Given the description of an element on the screen output the (x, y) to click on. 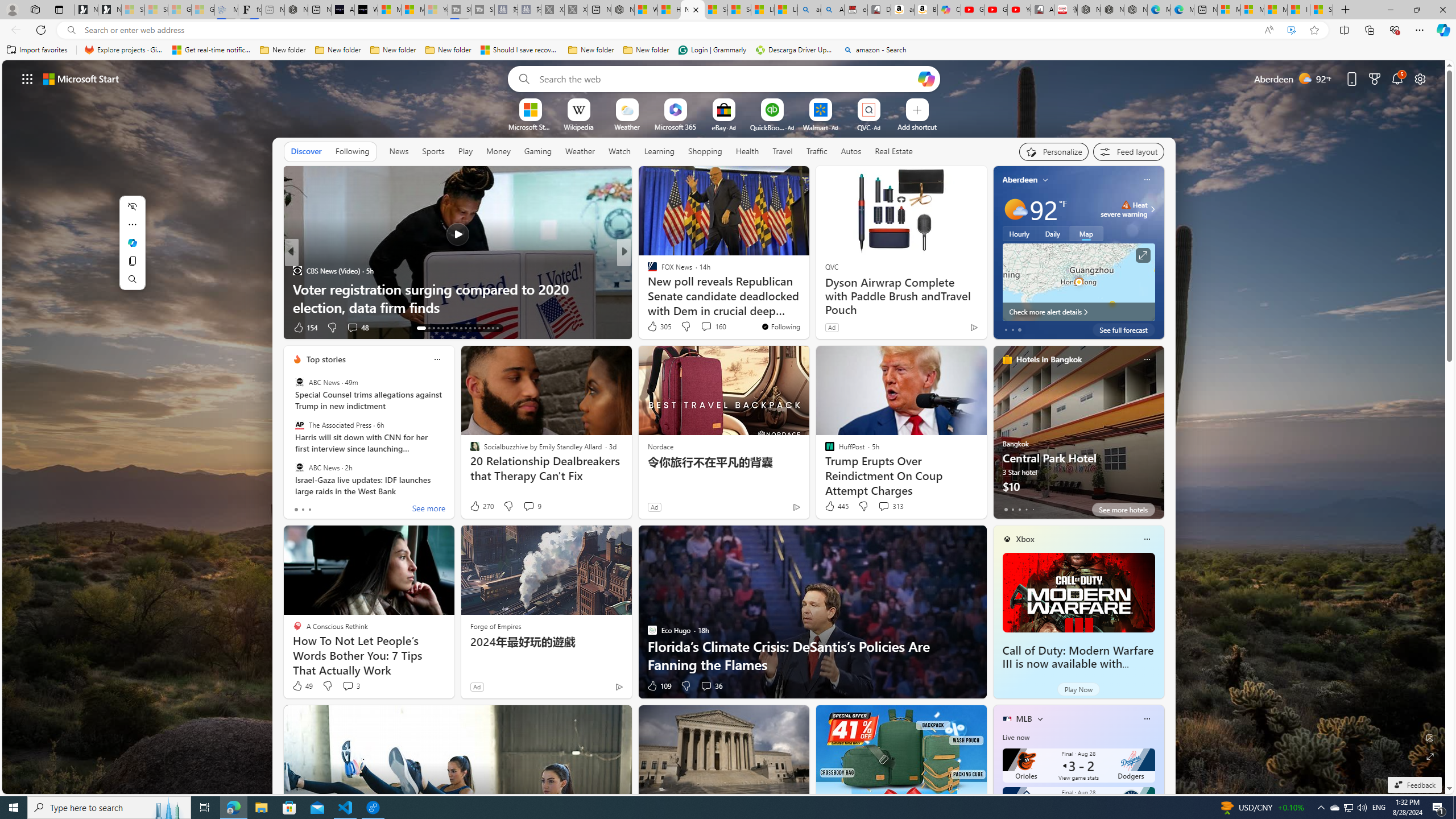
Address and search bar (669, 29)
Hide this story (774, 179)
Read aloud this page (Ctrl+Shift+U) (1268, 29)
I Gained 20 Pounds of Muscle in 30 Days! | Watch (1298, 9)
Search icon (70, 29)
Hide menu (132, 206)
Ask Copilot (132, 242)
Microsoft Start Sports (529, 126)
AutomationID: tab-18 (446, 328)
Thrift My Life (647, 270)
Cents + Purpose (647, 288)
